Given the description of an element on the screen output the (x, y) to click on. 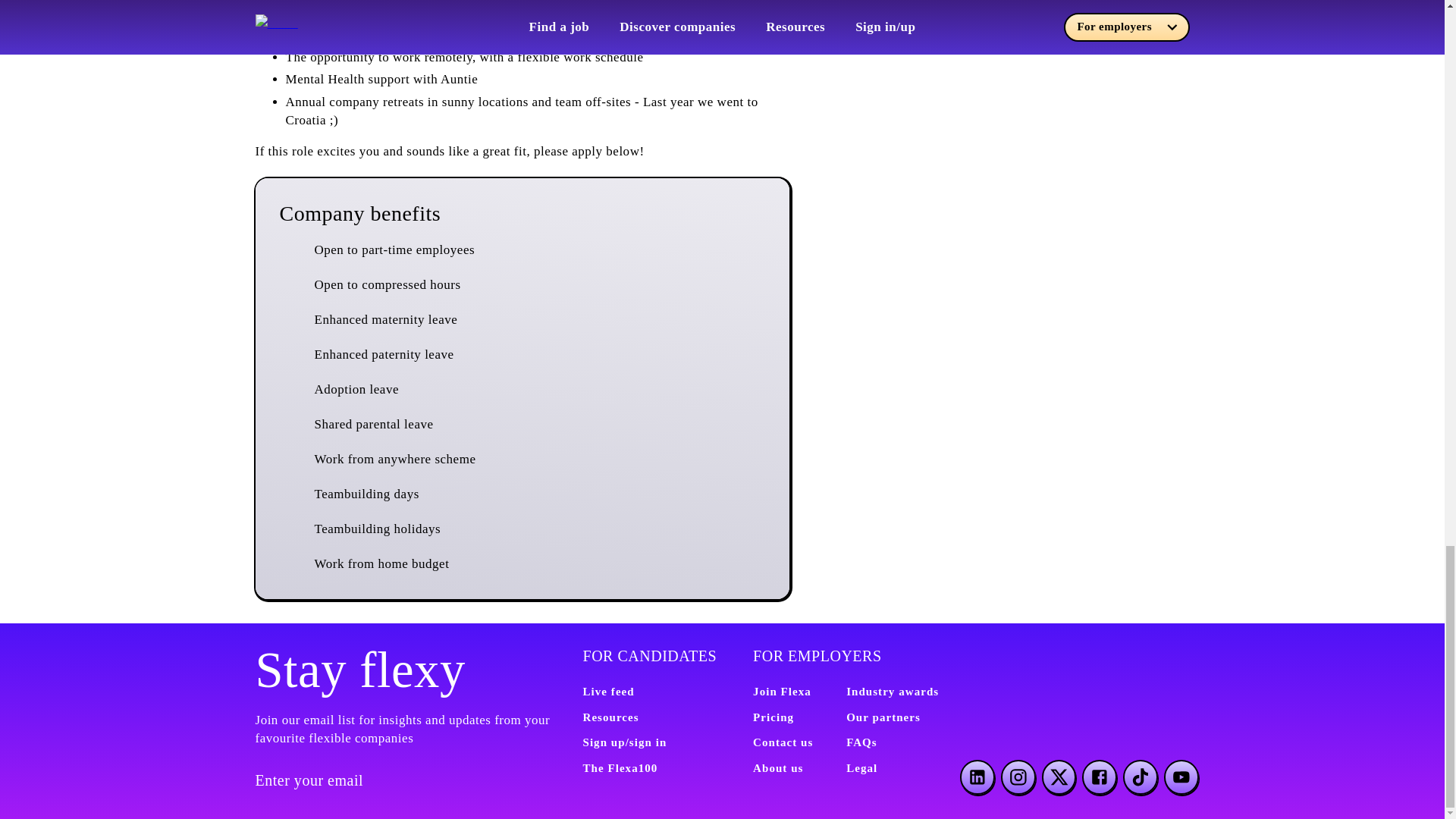
Legal (861, 767)
Join Flexa (781, 691)
Live feed (607, 691)
About us (777, 767)
FAQs (861, 742)
Our partners (882, 717)
Pricing (772, 717)
Industry awards (892, 691)
Contact us (782, 742)
The Flexa100 (620, 767)
